Given the description of an element on the screen output the (x, y) to click on. 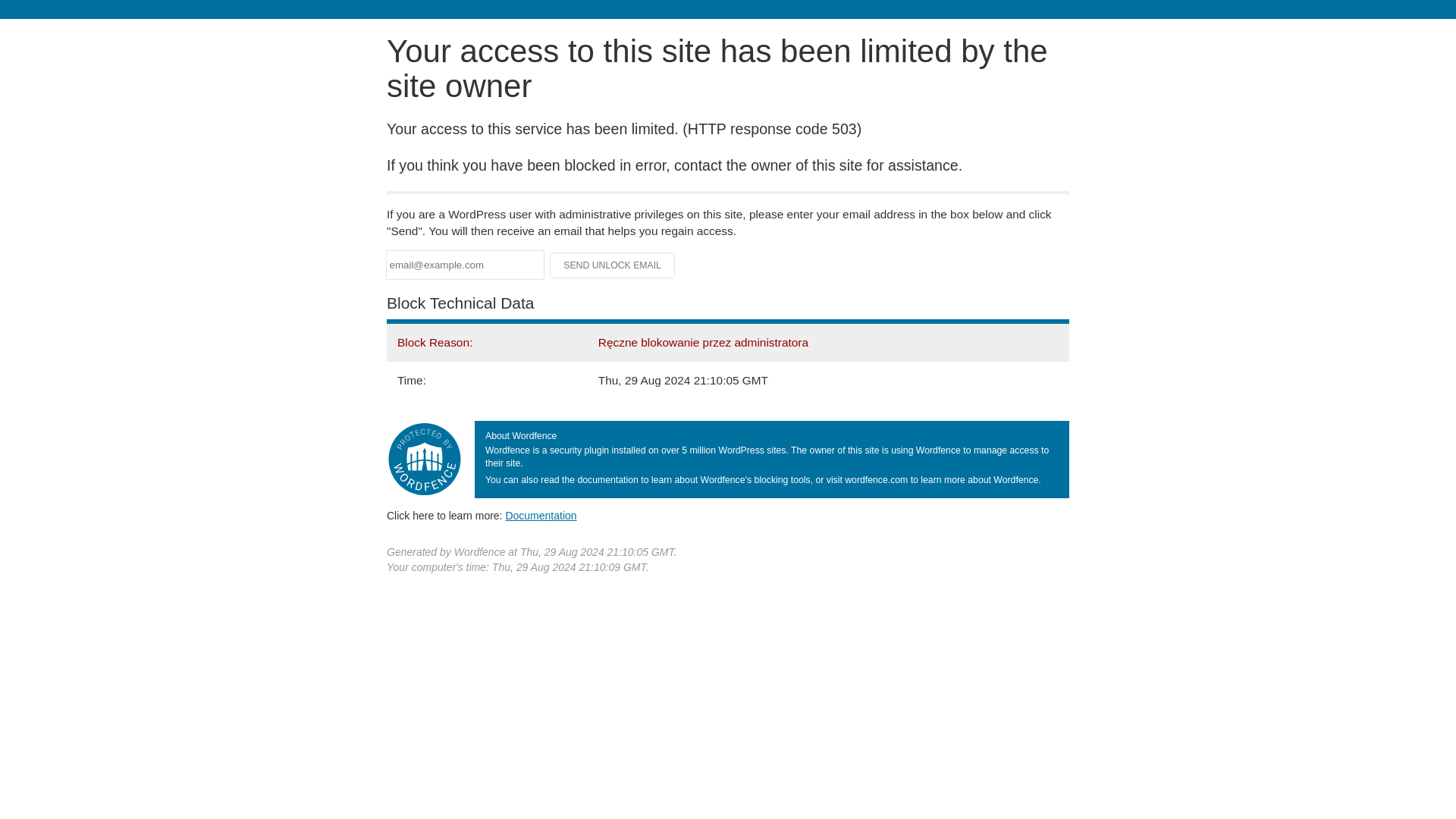
Send Unlock Email (612, 265)
Send Unlock Email (612, 265)
Documentation (540, 515)
